Given the description of an element on the screen output the (x, y) to click on. 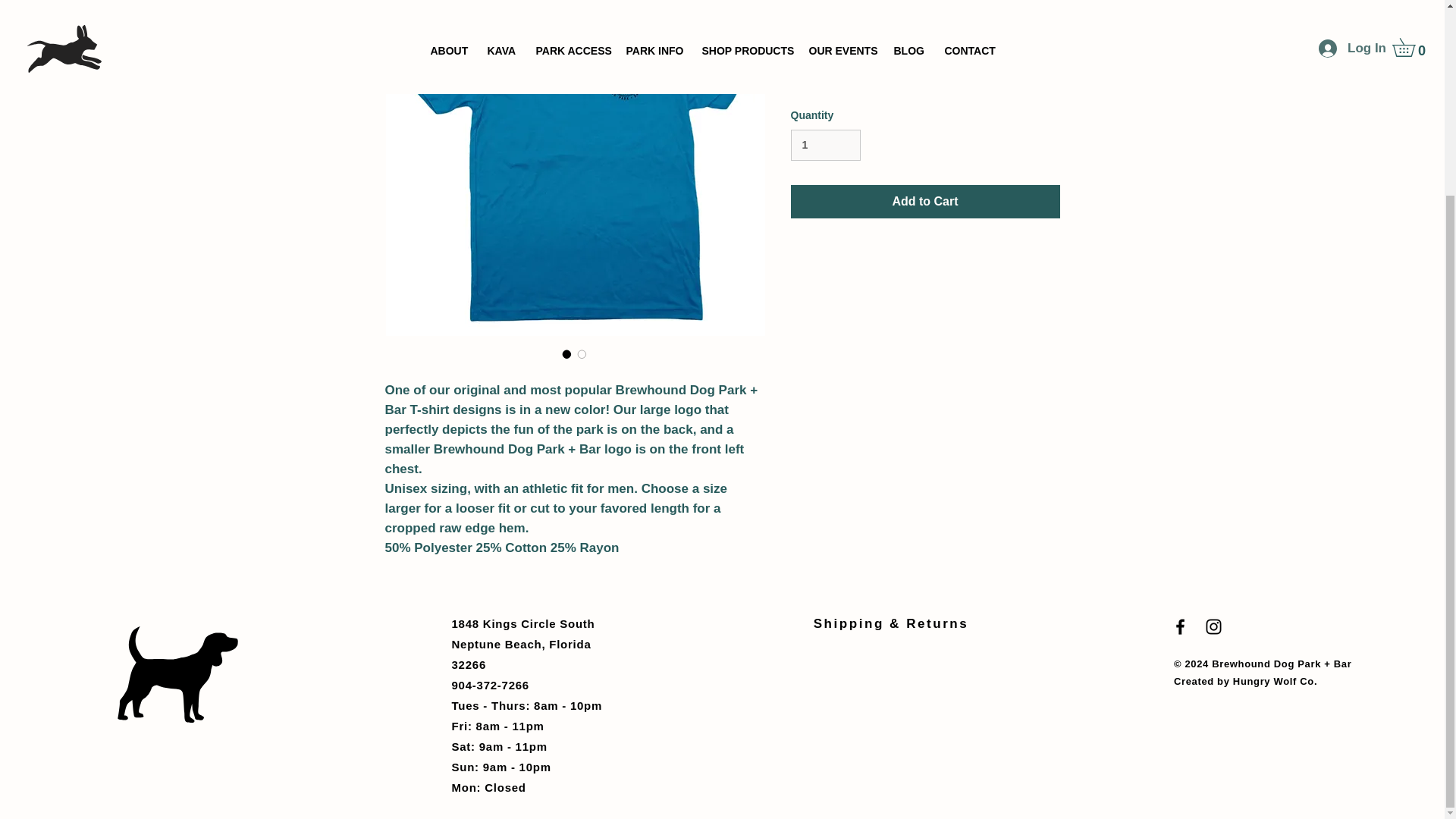
Add to Cart (924, 201)
904-372-7266 (490, 684)
1 (825, 144)
Select (924, 78)
